Given the description of an element on the screen output the (x, y) to click on. 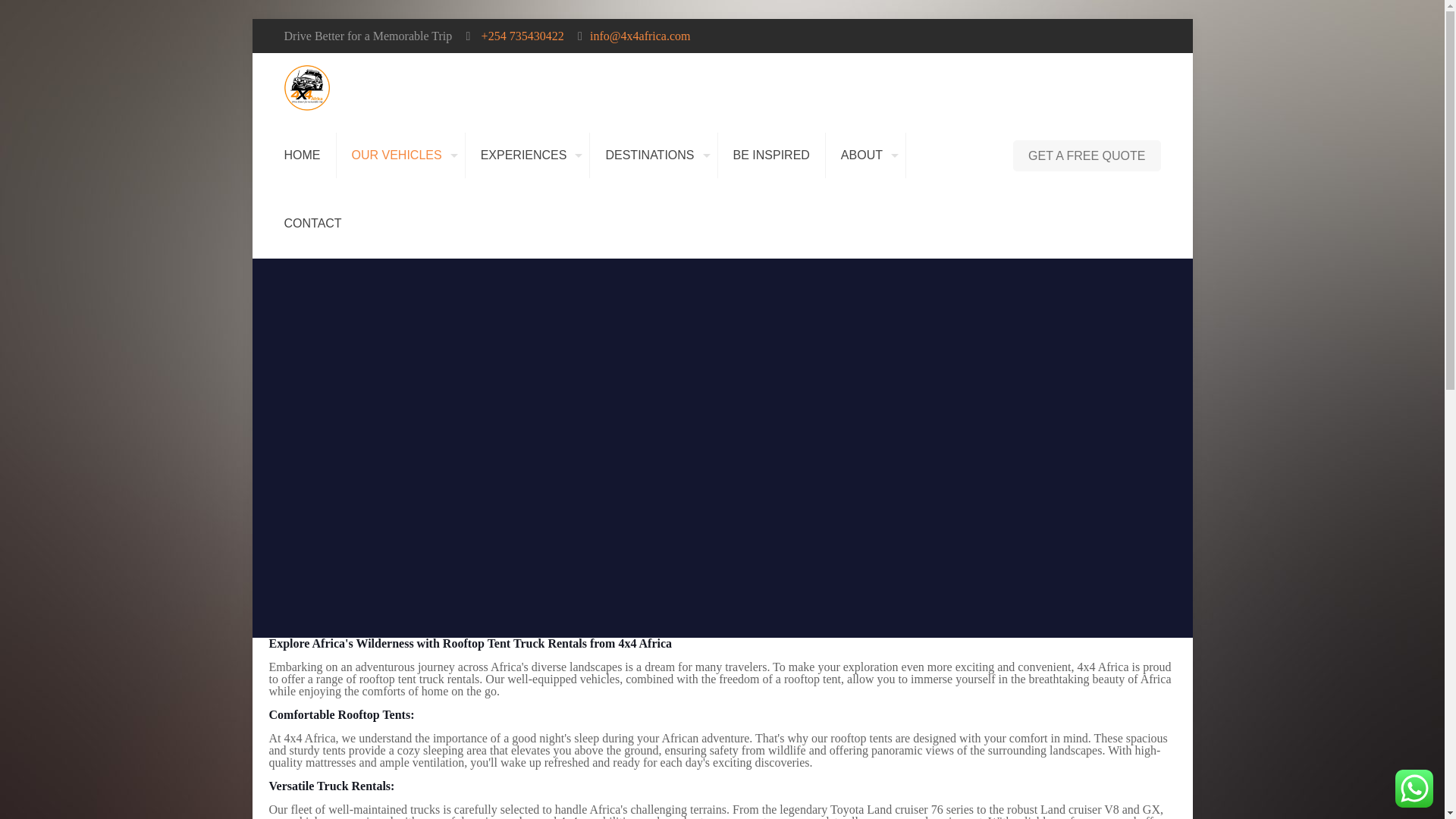
4x4 Africa (306, 87)
HOME (301, 155)
EXPERIENCES (528, 155)
OUR VEHICLES (400, 155)
